Given the description of an element on the screen output the (x, y) to click on. 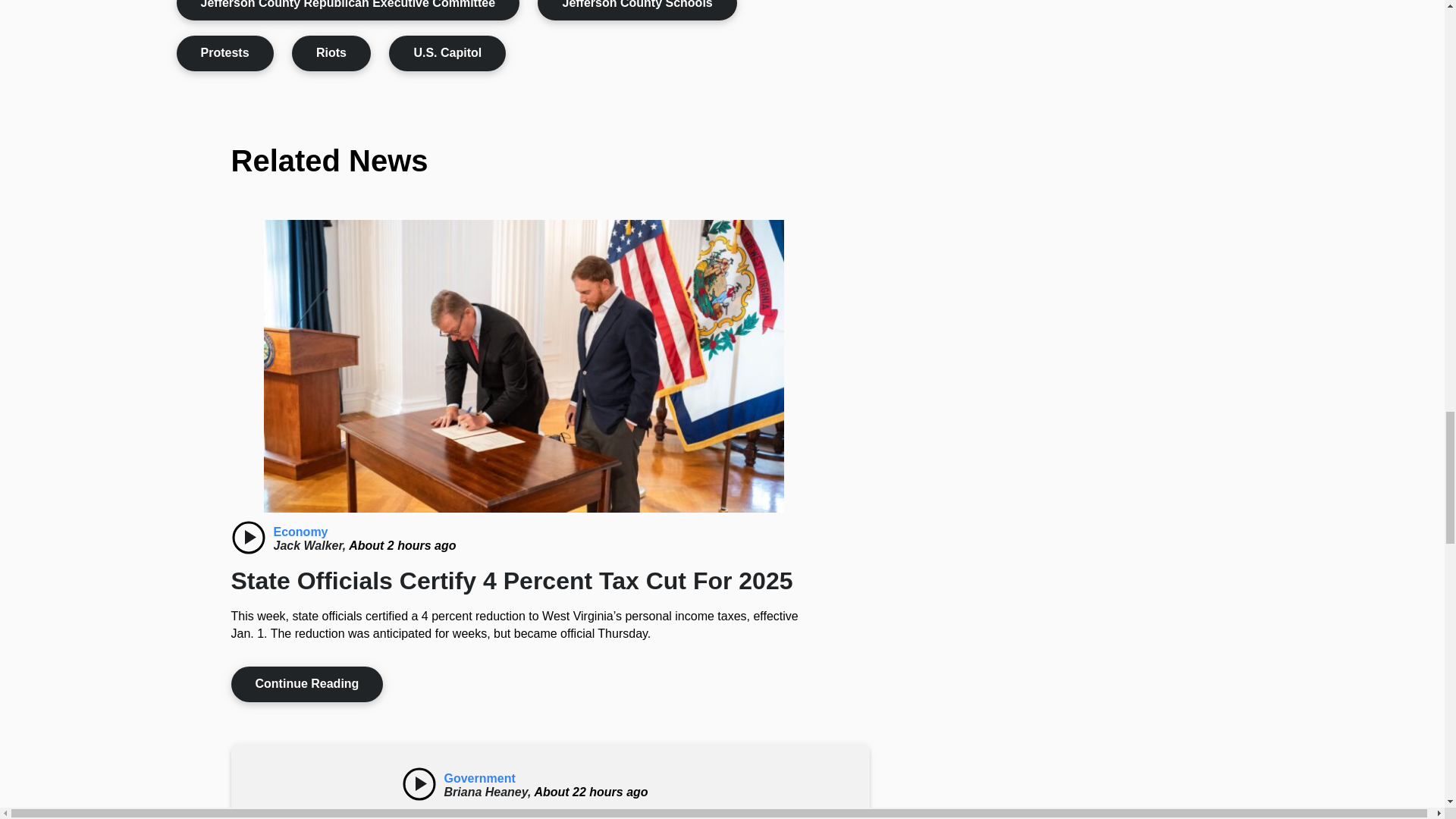
Jefferson County Republican Executive Committee (347, 10)
State Officials Certify 4 Percent Tax Cut For 2025 (247, 537)
Jefferson County Schools (636, 10)
Protests (224, 53)
U.S. Capitol (446, 53)
Riots (331, 53)
